Given the description of an element on the screen output the (x, y) to click on. 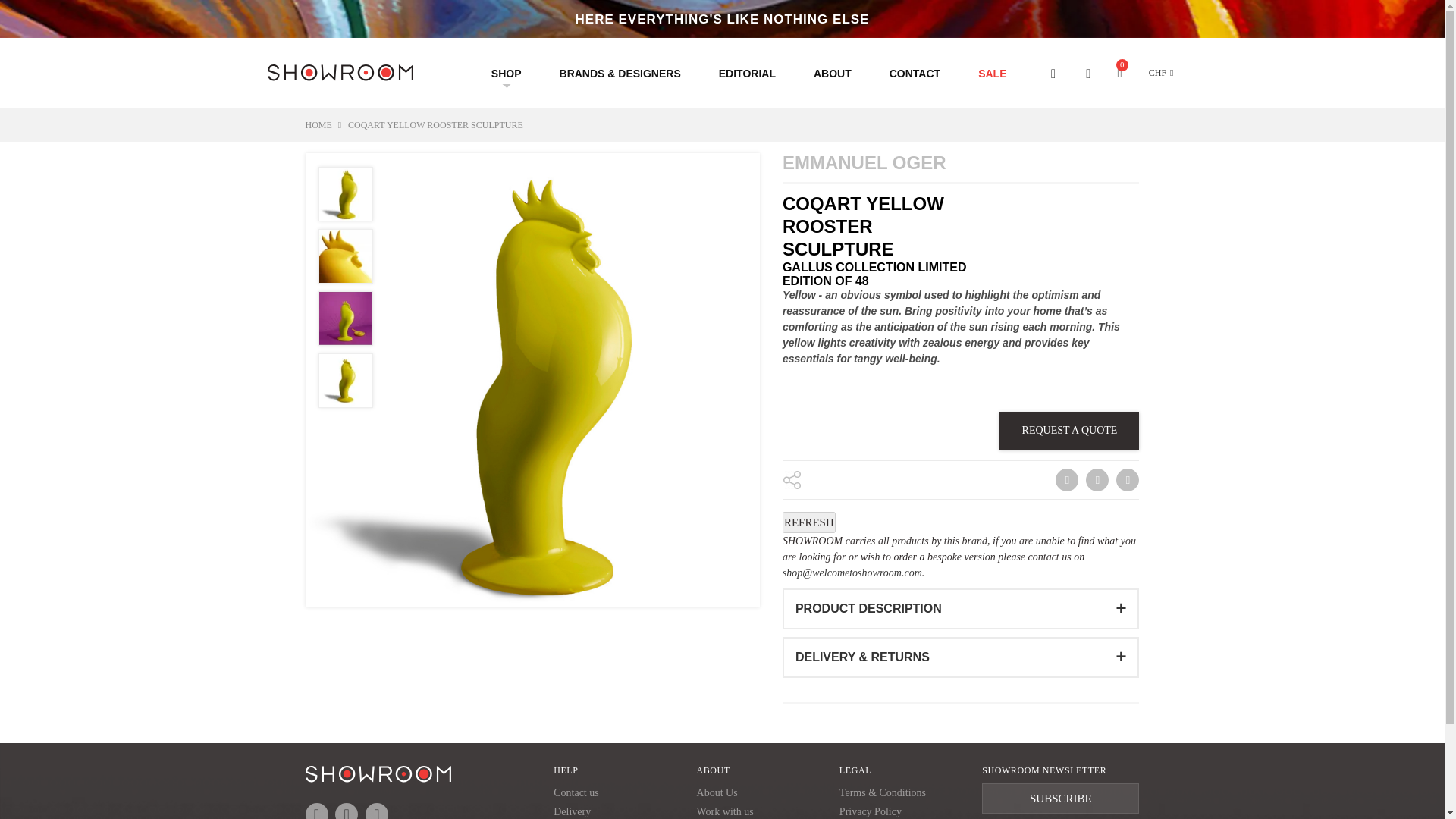
Tweet (1096, 479)
Refresh (809, 522)
Share (1065, 479)
SHOWROOM (339, 77)
Pinterest (1126, 479)
